Given the description of an element on the screen output the (x, y) to click on. 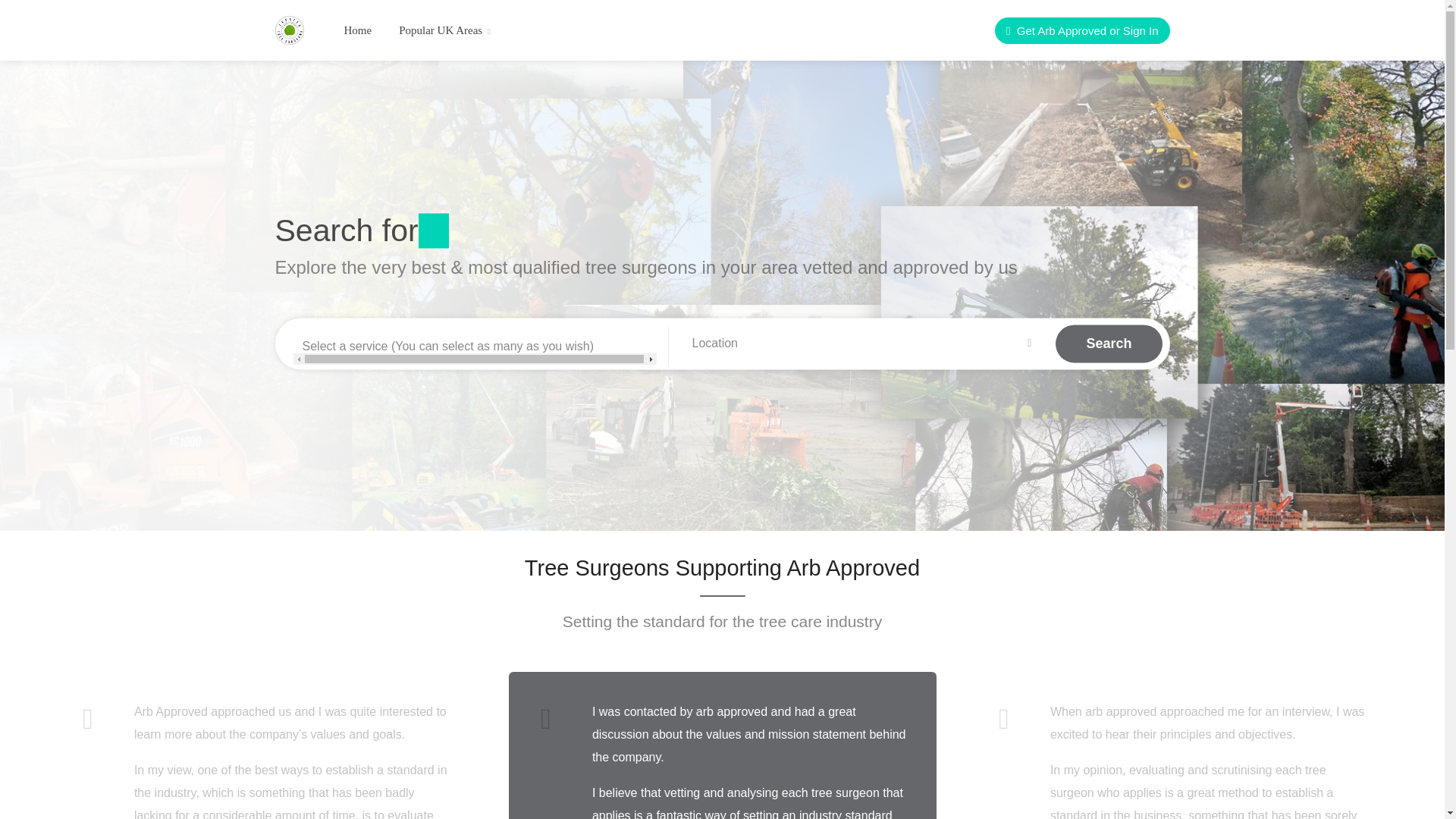
Get Arb Approved or Sign In (1081, 30)
Popular UK Areas (444, 30)
Home (356, 30)
Trusted Tree Surgeons (288, 29)
Search (1108, 344)
